Given the description of an element on the screen output the (x, y) to click on. 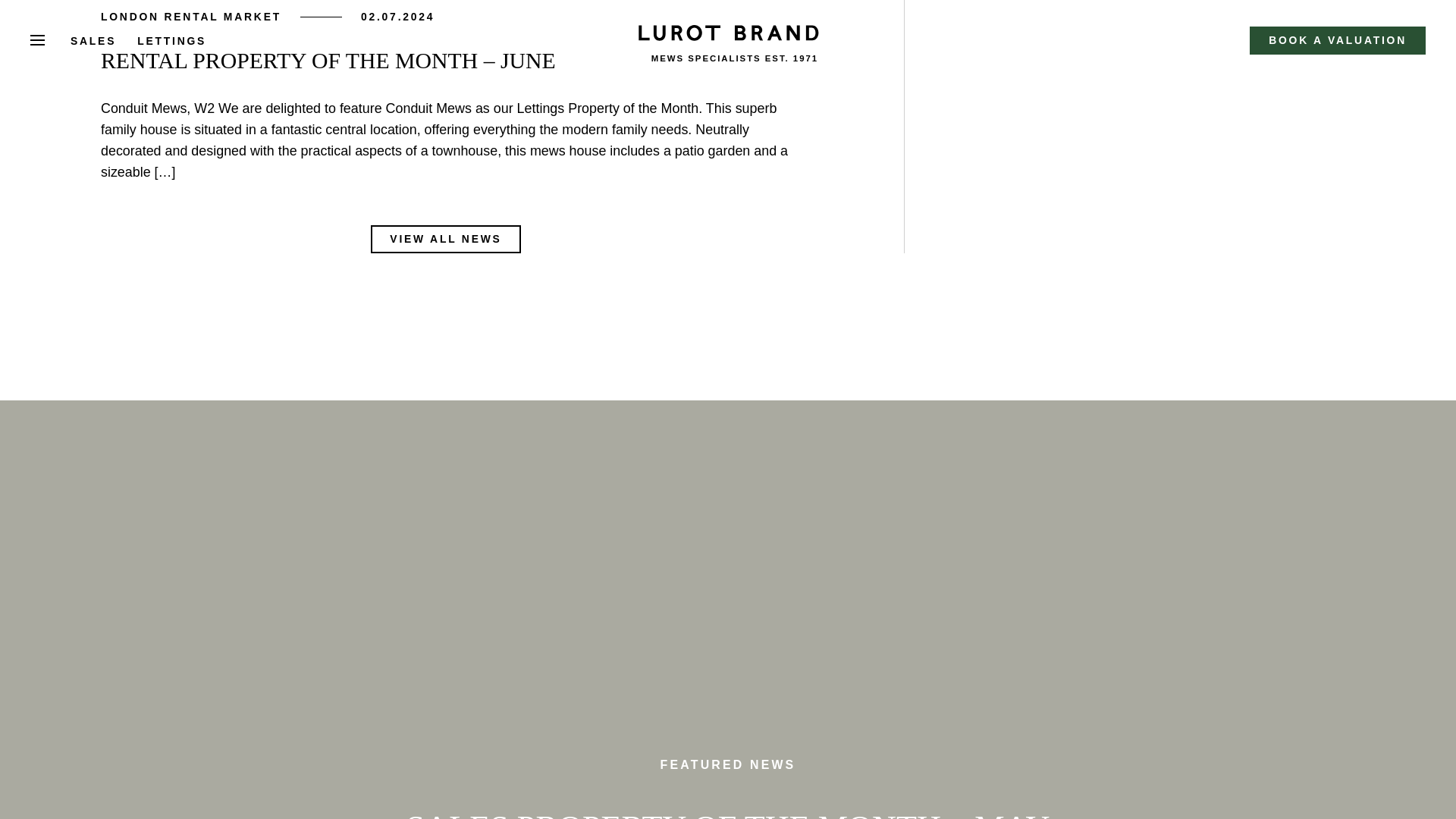
London Rental Market (190, 16)
